Given the description of an element on the screen output the (x, y) to click on. 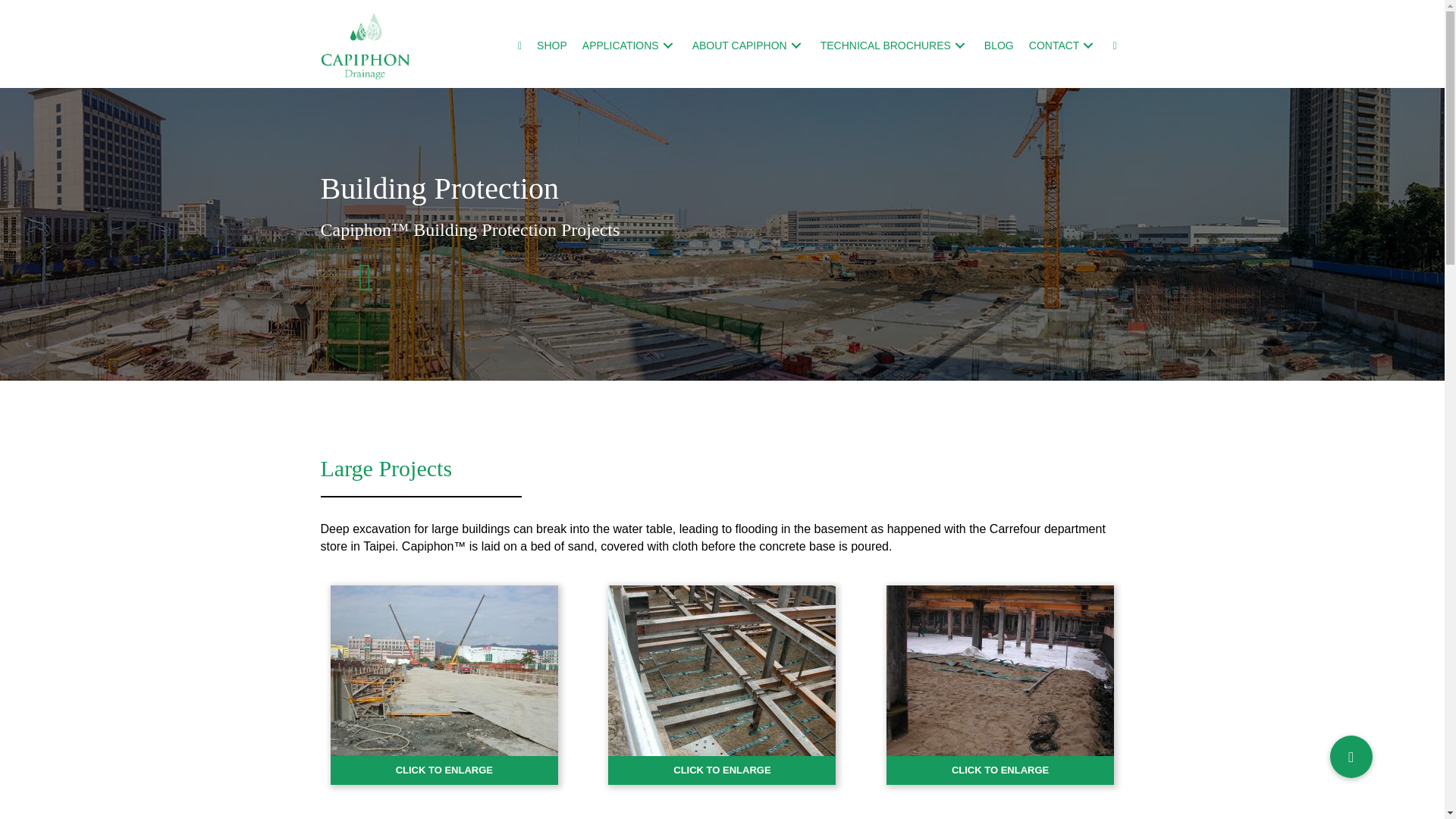
BLOG (999, 45)
TECHNICAL BROCHURES (894, 45)
SHOP (552, 45)
APPLICATIONS (629, 45)
ABOUT CAPIPHON (748, 45)
logo (365, 45)
CONTACT (1063, 45)
